Given the description of an element on the screen output the (x, y) to click on. 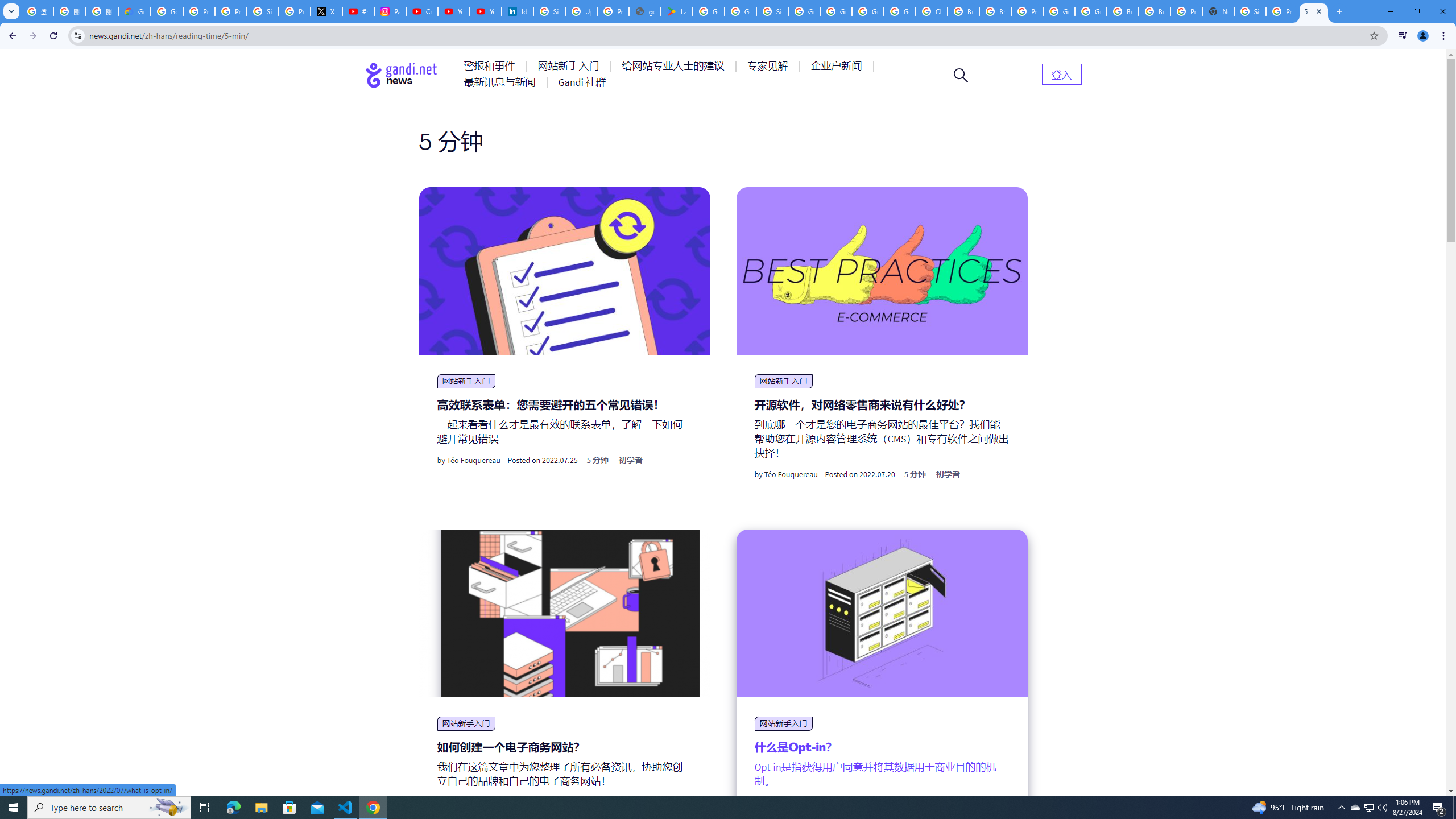
Sign in - Google Accounts (549, 11)
AutomationID: menu-item-77762 (570, 65)
AutomationID: menu-item-77767 (581, 82)
Sign in - Google Accounts (1249, 11)
